Given the description of an element on the screen output the (x, y) to click on. 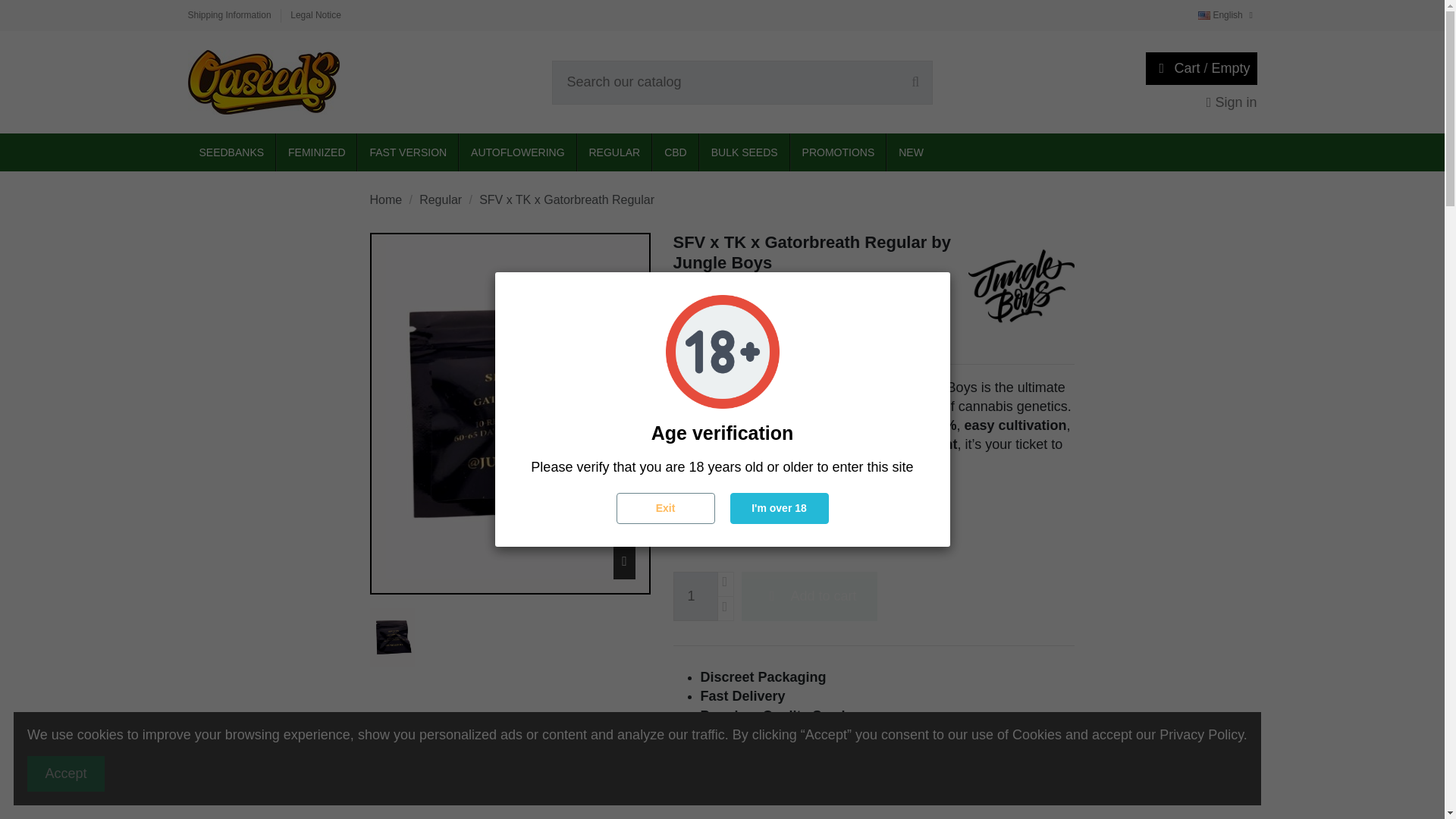
REGULAR (614, 152)
BULK SEEDS (743, 152)
1 (694, 595)
FAST VERSION (407, 152)
Log in to your customer account (1232, 102)
AUTOFLOWERING (516, 152)
CBD (674, 152)
Legal Notice (314, 14)
Shipping Information (230, 14)
FEMINIZED (315, 152)
NEW (909, 152)
English (1227, 14)
Age verification (721, 351)
PROMOTIONS (837, 152)
Sign in (1232, 102)
